Given the description of an element on the screen output the (x, y) to click on. 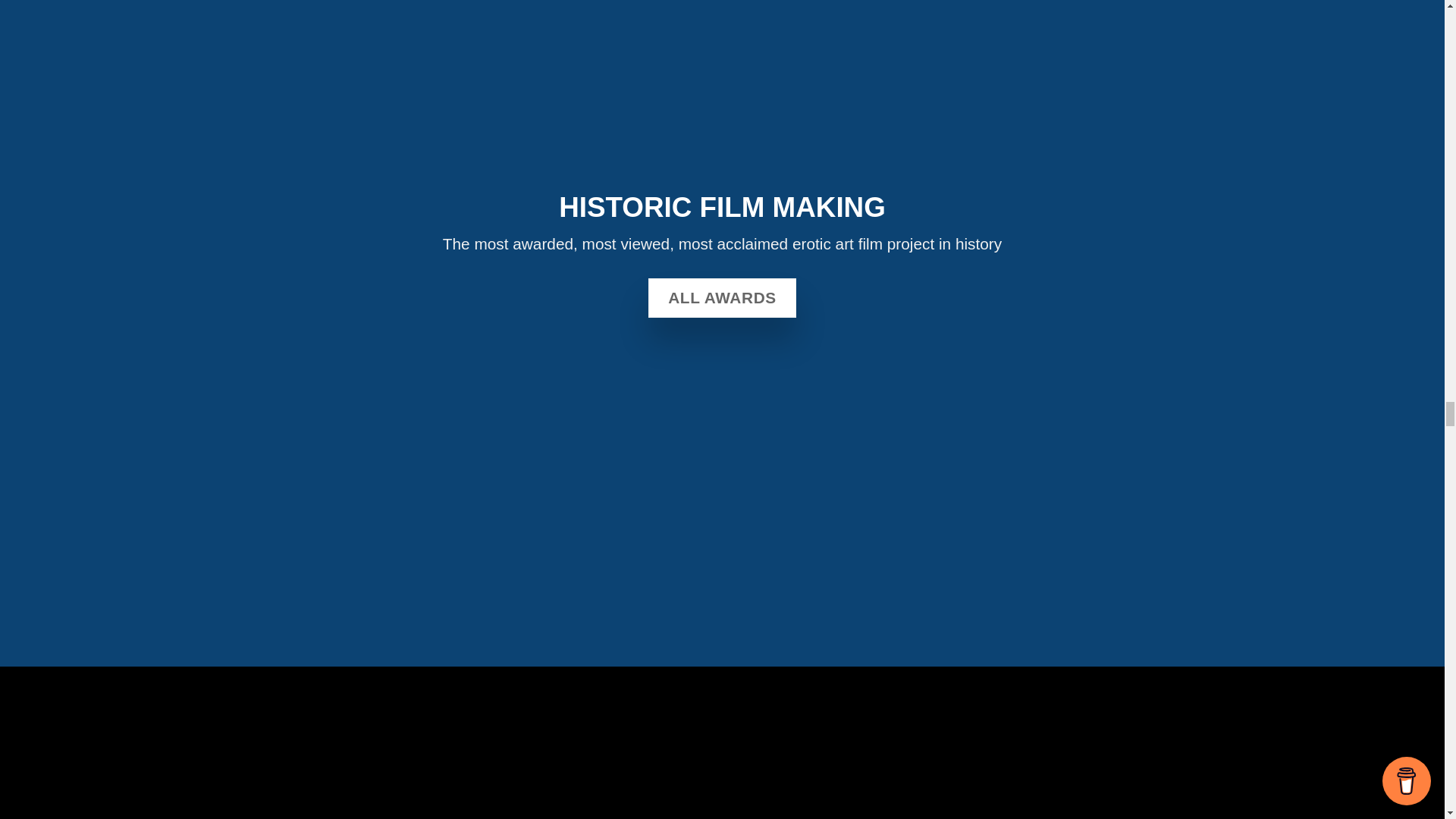
ALL AWARDS (720, 297)
erotic art (822, 243)
